Given the description of an element on the screen output the (x, y) to click on. 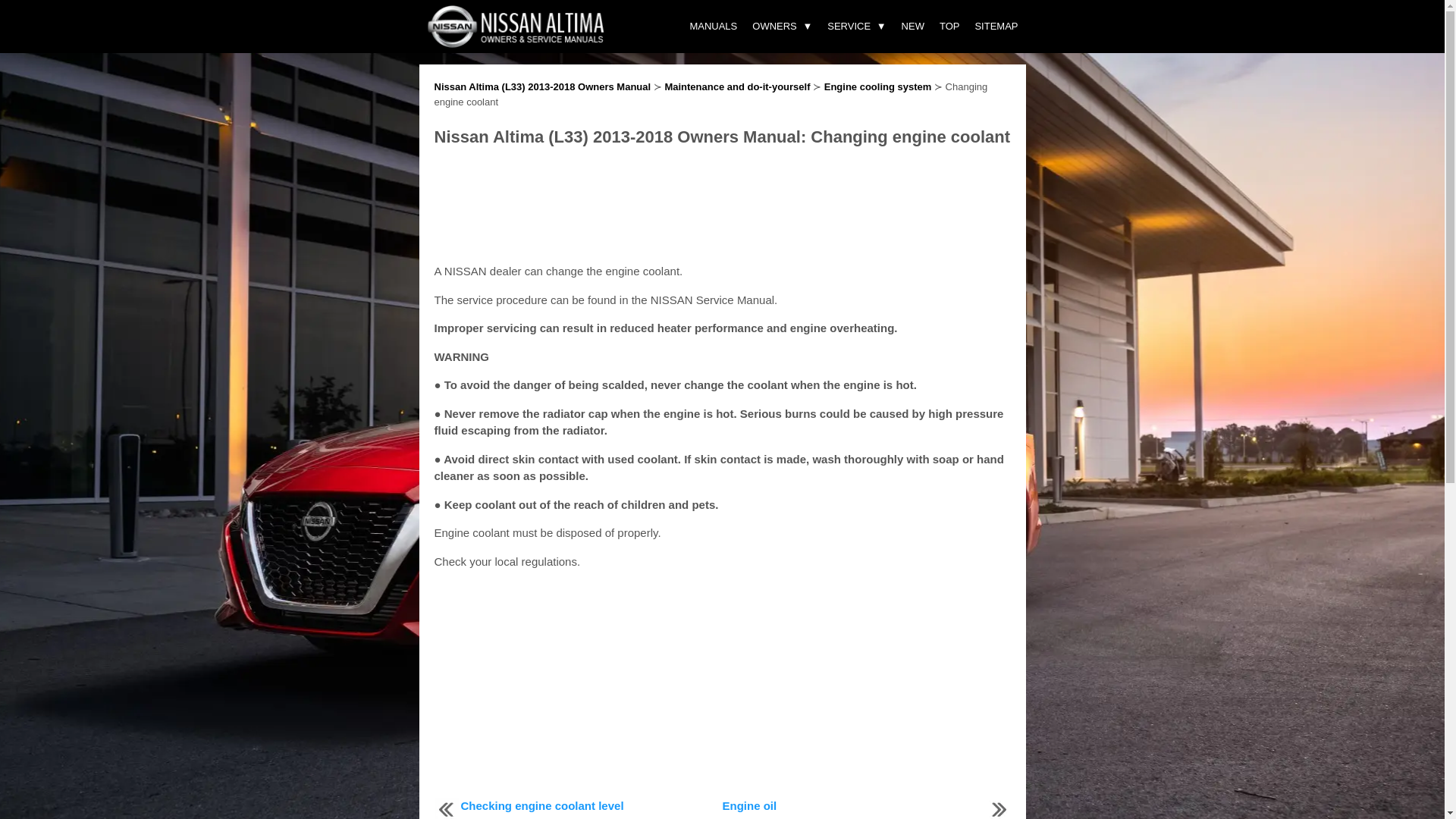
Nissan Altima manuals (516, 43)
Nissan Altima manuals (516, 26)
MANUALS (712, 26)
Advertisement (721, 205)
SERVICE (856, 26)
OWNERS (781, 26)
Advertisement (721, 687)
